Given the description of an element on the screen output the (x, y) to click on. 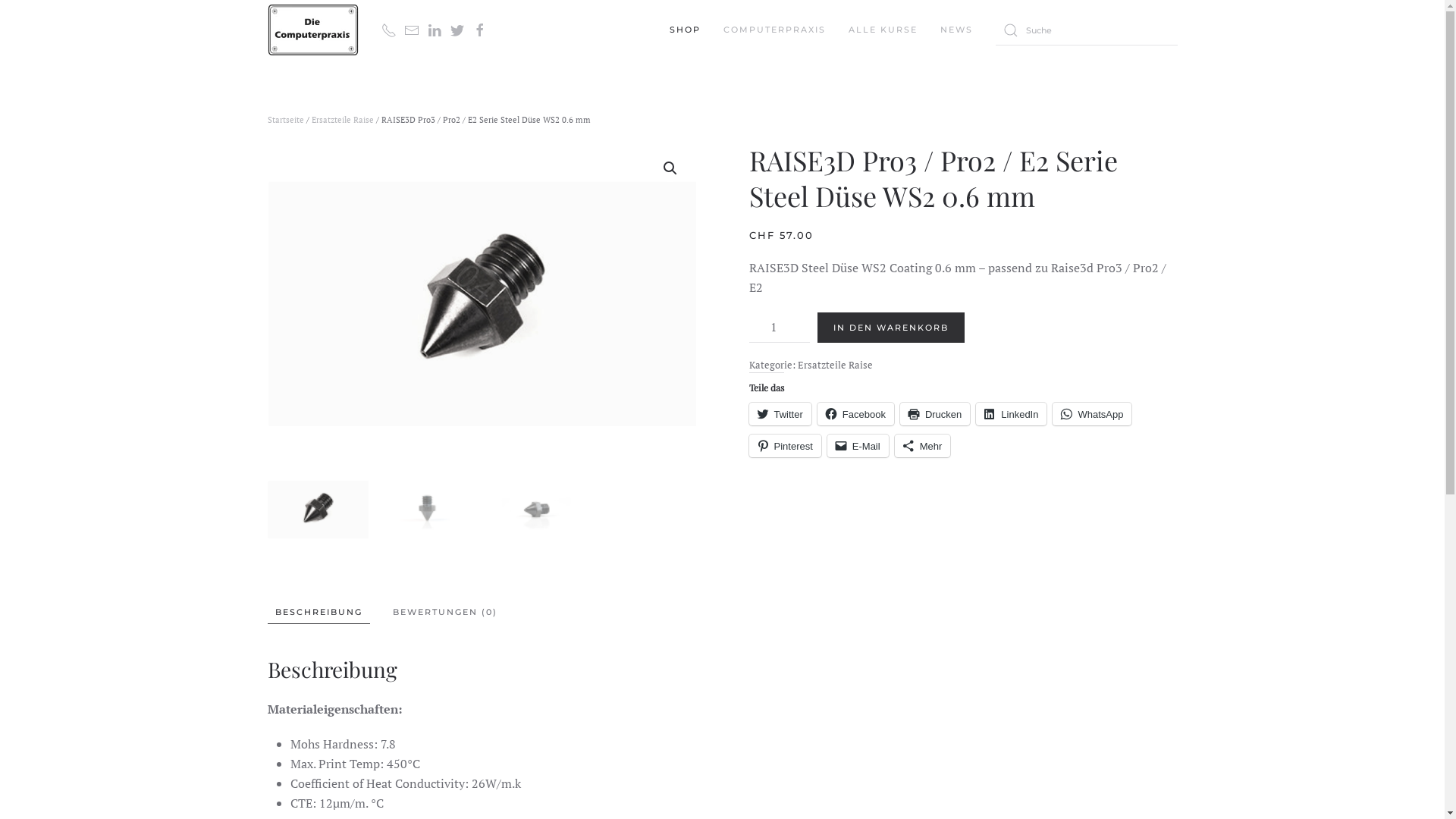
BESCHREIBUNG Element type: text (317, 612)
Pinterest Element type: text (785, 445)
COMPUTERPRAXIS Element type: text (774, 30)
IN DEN WARENKORB Element type: text (890, 327)
Drucken Element type: text (934, 413)
ALLE KURSE Element type: text (881, 30)
raise3d-pro3-pro2-e2-serie-steel-duese-ws2-04-mm Element type: hover (480, 303)
WhatsApp Element type: text (1091, 413)
Startseite Element type: text (284, 119)
Ersatzteile Raise Element type: text (834, 364)
Ersatzteile Raise Element type: text (341, 119)
Twitter Element type: text (780, 413)
LinkedIn Element type: text (1010, 413)
Facebook Element type: text (855, 413)
Mehr Element type: text (922, 445)
E-Mail Element type: text (857, 445)
NEWS Element type: text (956, 30)
SHOP Element type: text (683, 30)
BEWERTUNGEN (0) Element type: text (445, 612)
